Given the description of an element on the screen output the (x, y) to click on. 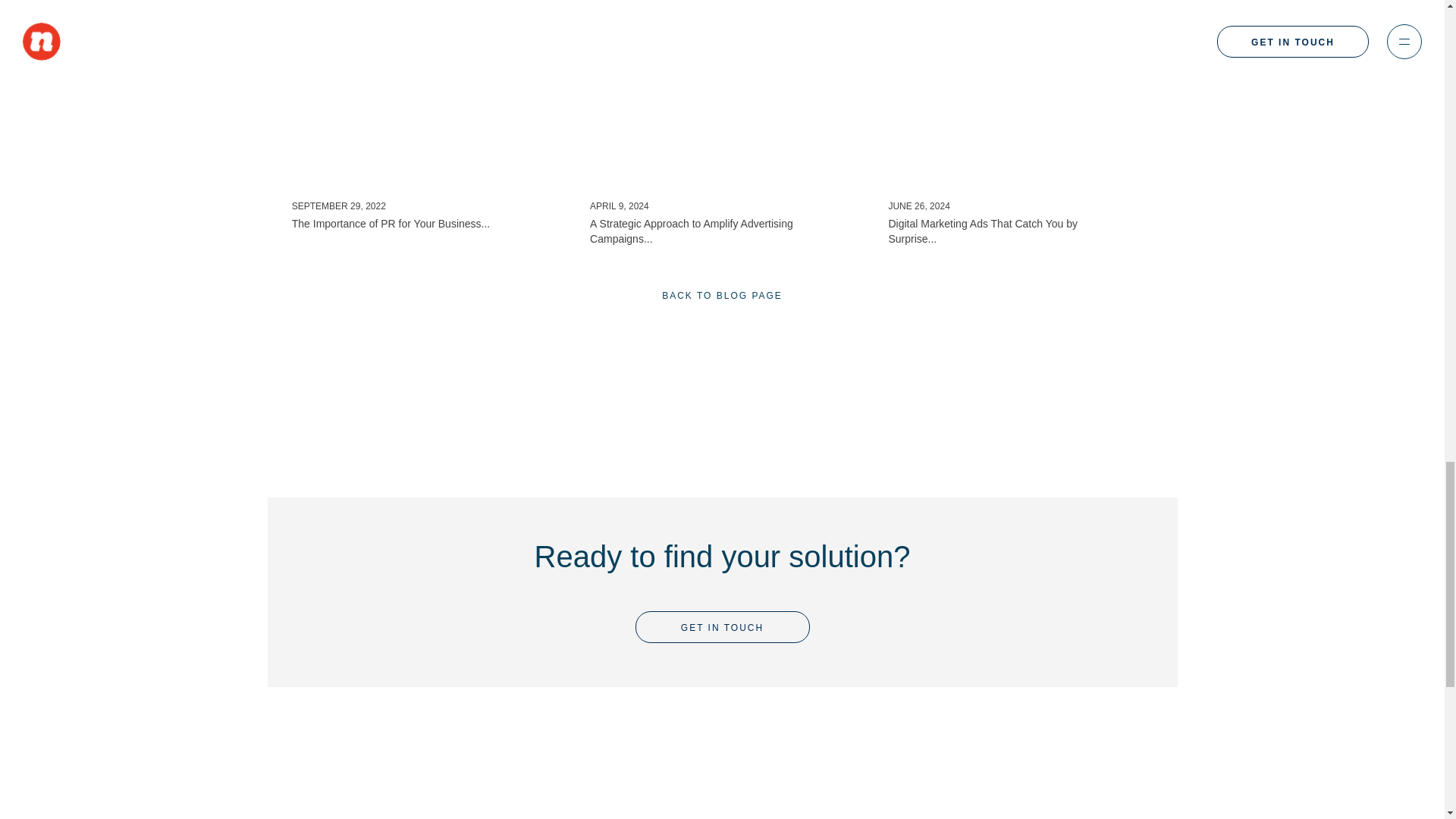
JOIN (990, 811)
GET IN TOUCH (424, 142)
JOIN (721, 626)
